Given the description of an element on the screen output the (x, y) to click on. 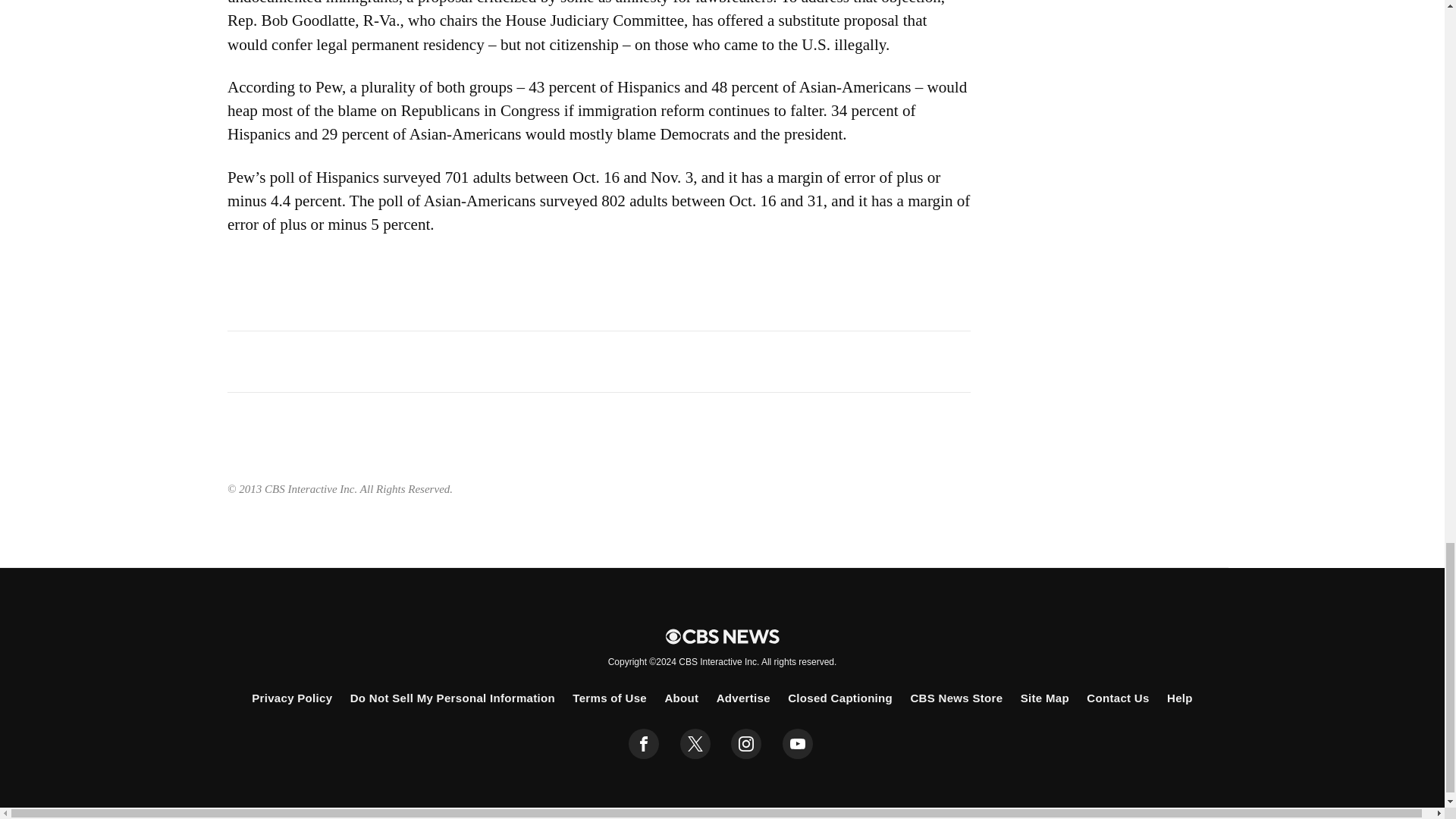
youtube (797, 743)
facebook (643, 743)
instagram (745, 743)
twitter (694, 743)
